Given the description of an element on the screen output the (x, y) to click on. 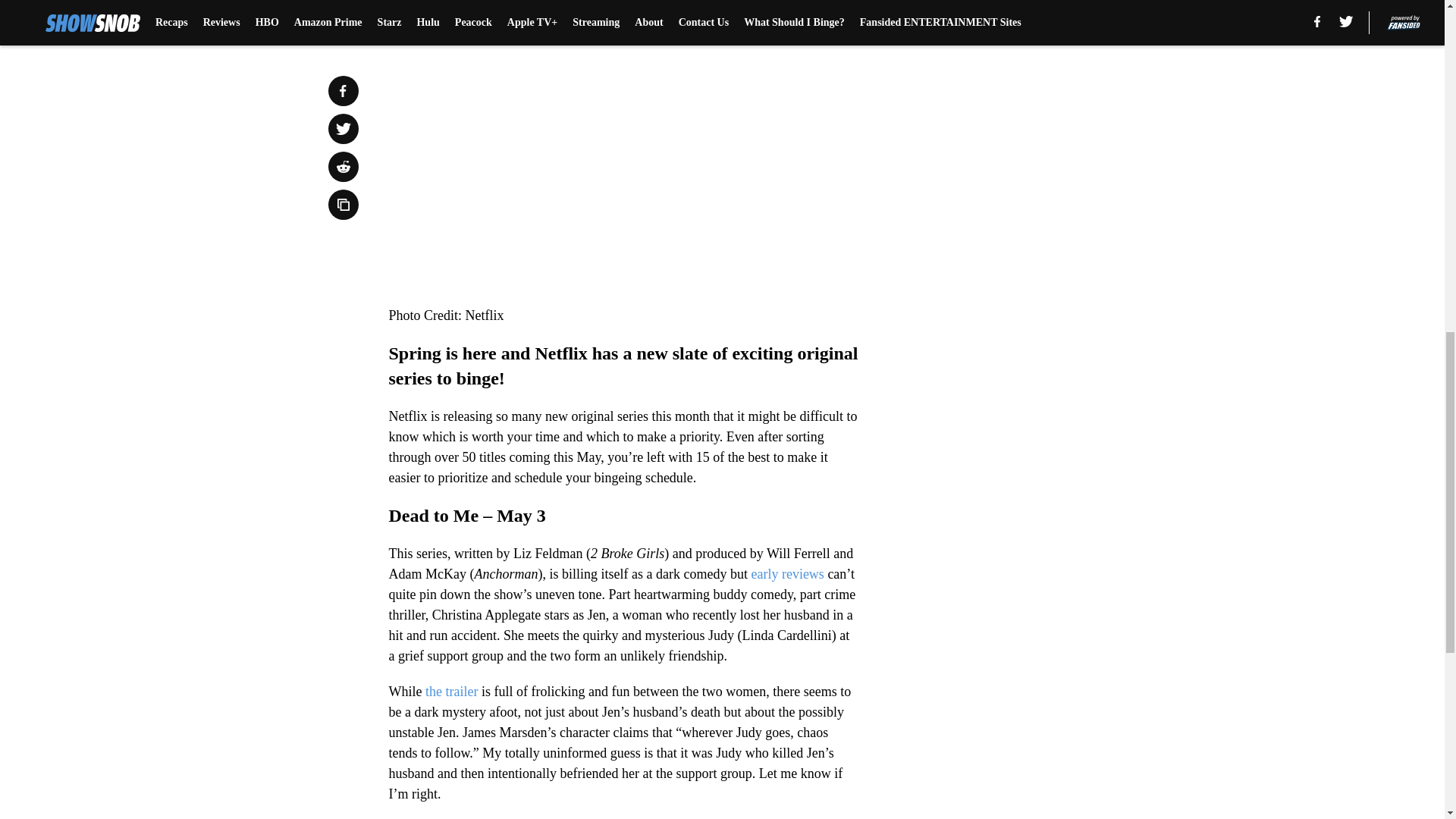
the trailer (449, 691)
Prev (433, 5)
early reviews (787, 573)
Next (813, 5)
